Given the description of an element on the screen output the (x, y) to click on. 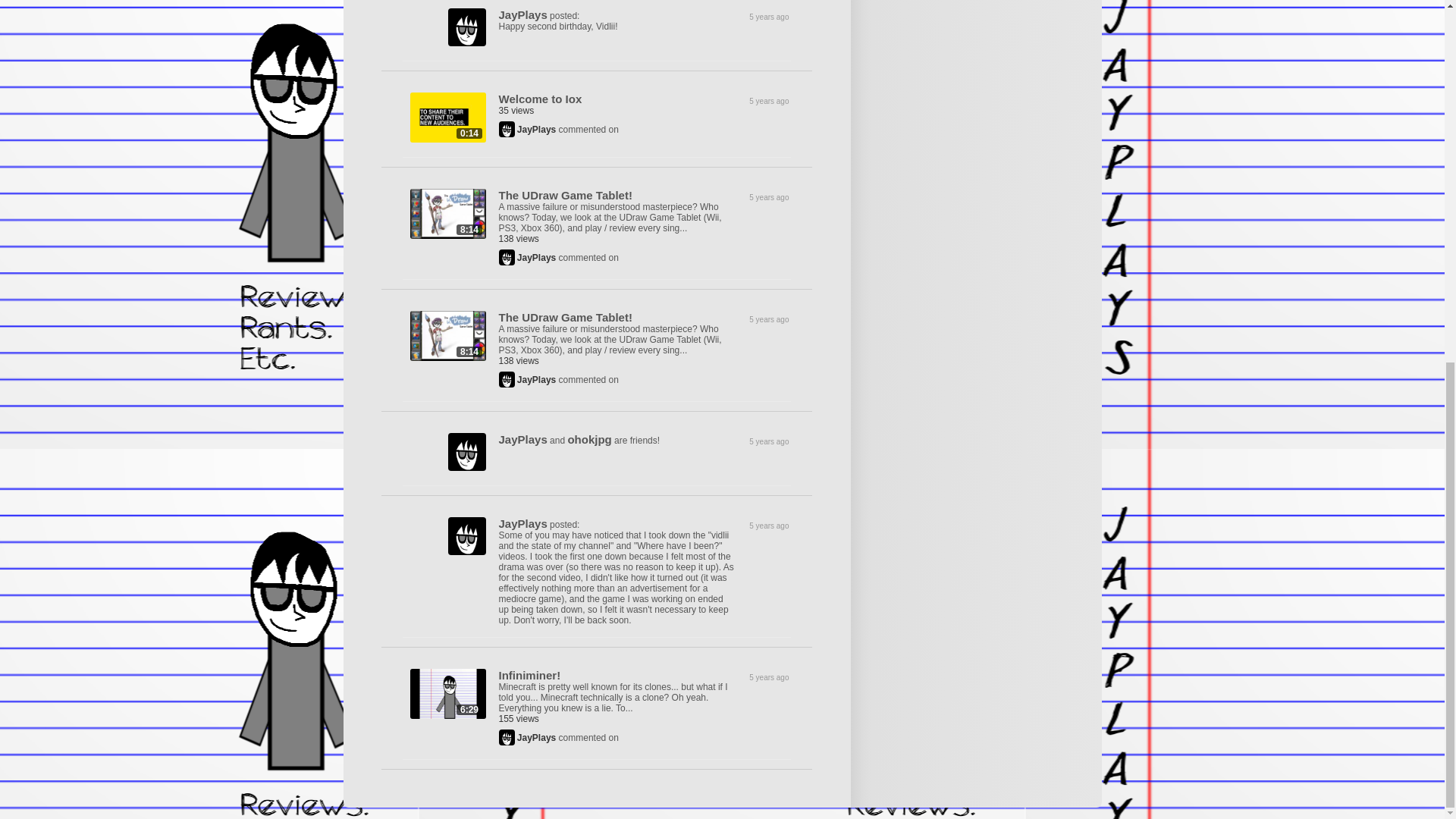
JayPlays (523, 439)
JayPlays (536, 379)
JayPlays (536, 129)
JayPlays (523, 14)
JayPlays (523, 522)
The UDraw Game Tablet! (565, 317)
JayPlays (536, 257)
Welcome to Iox (540, 98)
The UDraw Game Tablet! (565, 195)
ohokjpg (589, 439)
